Given the description of an element on the screen output the (x, y) to click on. 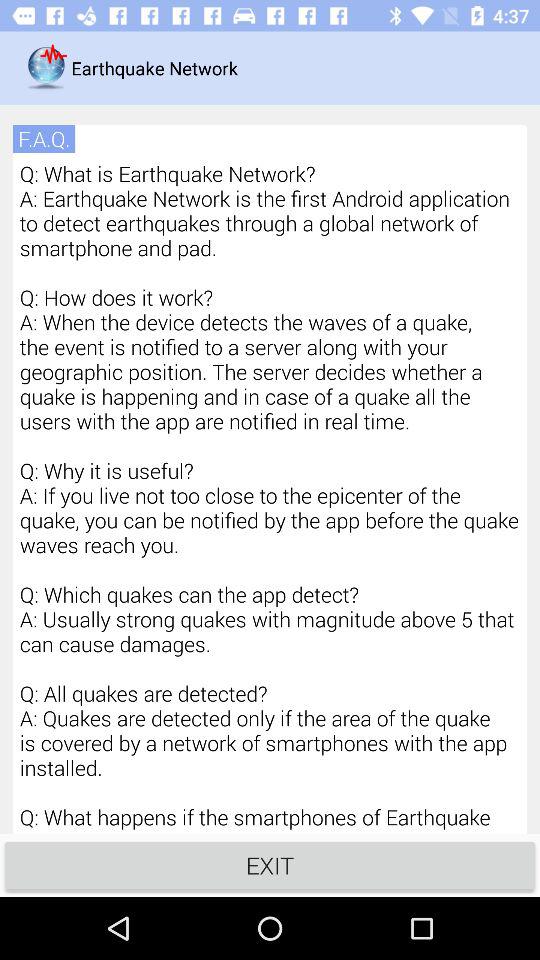
open the item below q what is icon (270, 864)
